Given the description of an element on the screen output the (x, y) to click on. 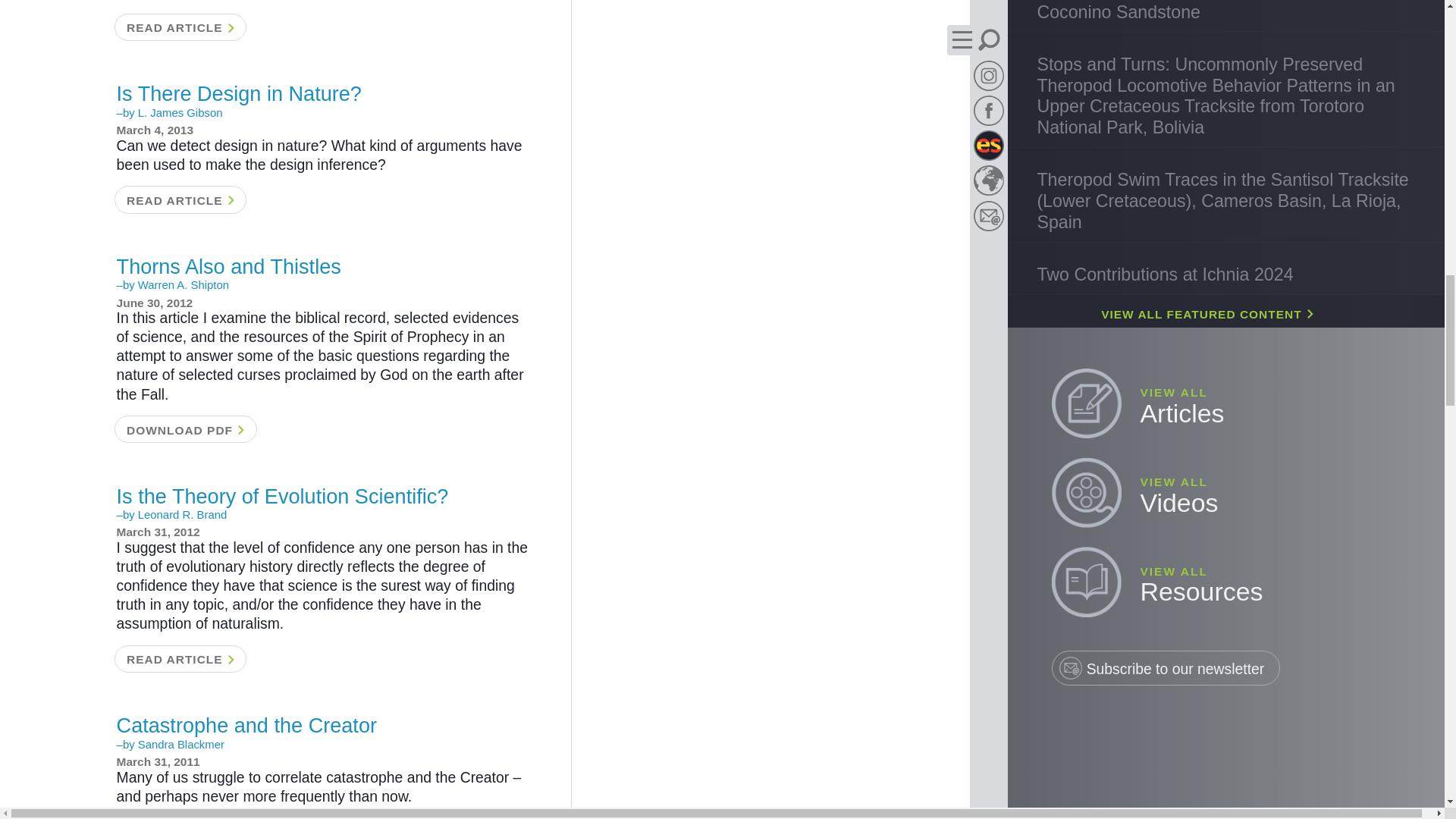
READ ARTICLE (179, 198)
READ ARTICLE (179, 26)
DOWNLOAD PDF (184, 429)
READ ARTICLE (179, 818)
READ ARTICLE (179, 658)
